Given the description of an element on the screen output the (x, y) to click on. 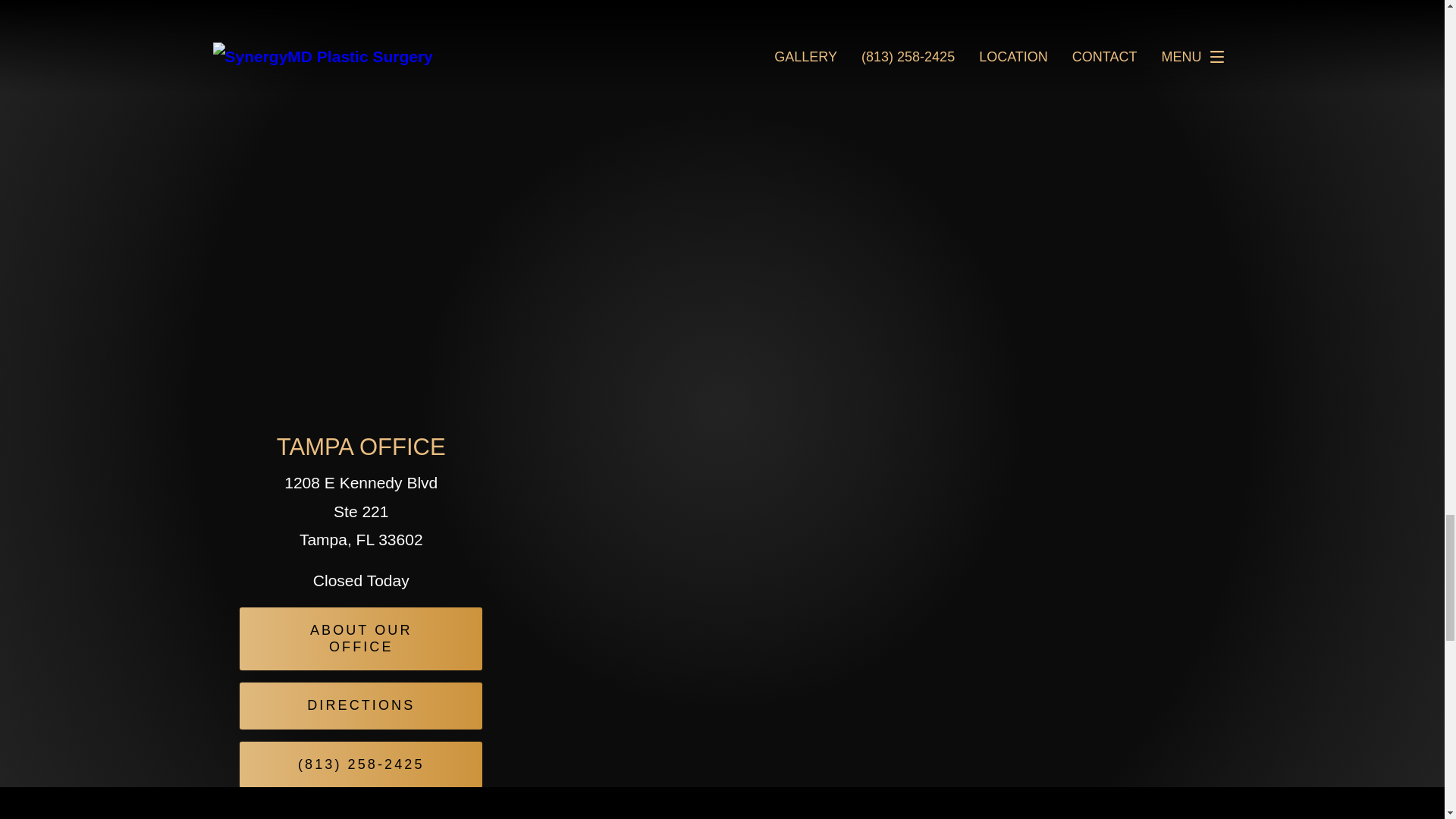
TAMPA OFFICE (360, 447)
ABOUT OUR OFFICE (360, 638)
DIRECTIONS (360, 705)
Locations (1072, 416)
